Given the description of an element on the screen output the (x, y) to click on. 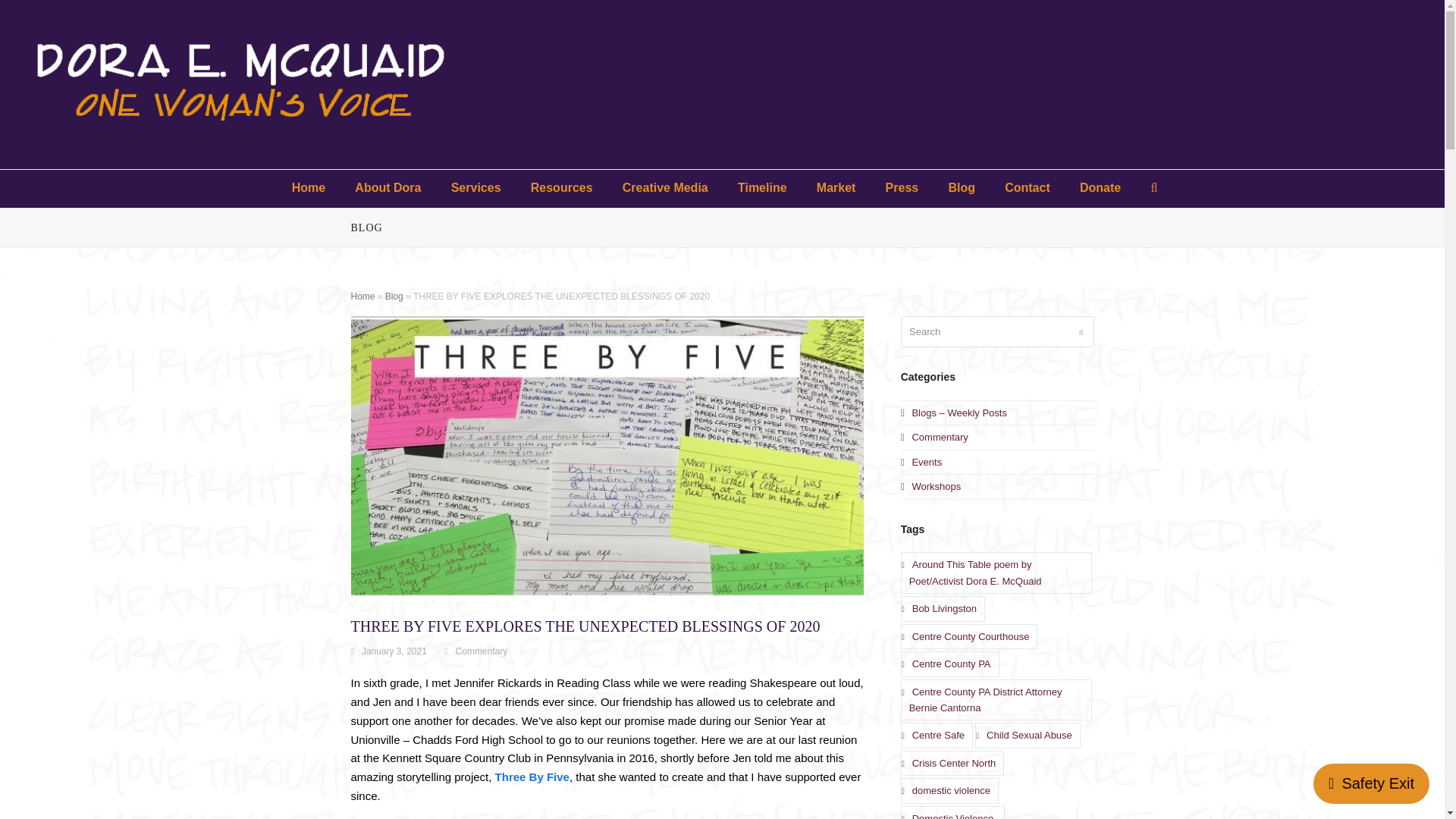
Resources (560, 188)
Enlarge Image (606, 457)
Creative Media (665, 188)
Services (475, 188)
About Dora (388, 188)
Safety Exit (1371, 783)
Market (836, 188)
Home (308, 188)
Press (901, 188)
Timeline (761, 188)
